Given the description of an element on the screen output the (x, y) to click on. 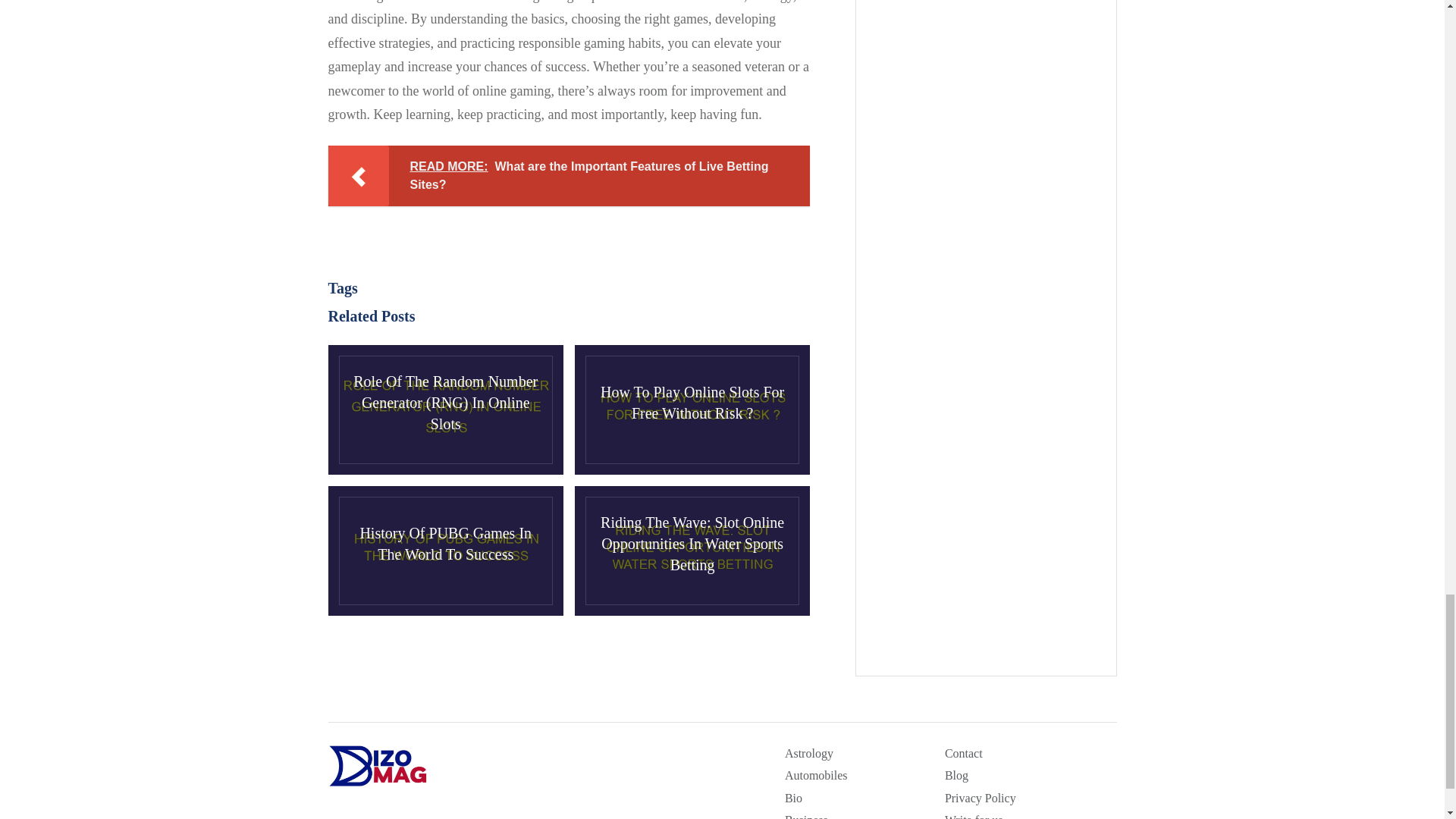
History of PUBG games in the world to success (444, 550)
How to Play Online Slots for Free Without Risk ? (692, 409)
